Given the description of an element on the screen output the (x, y) to click on. 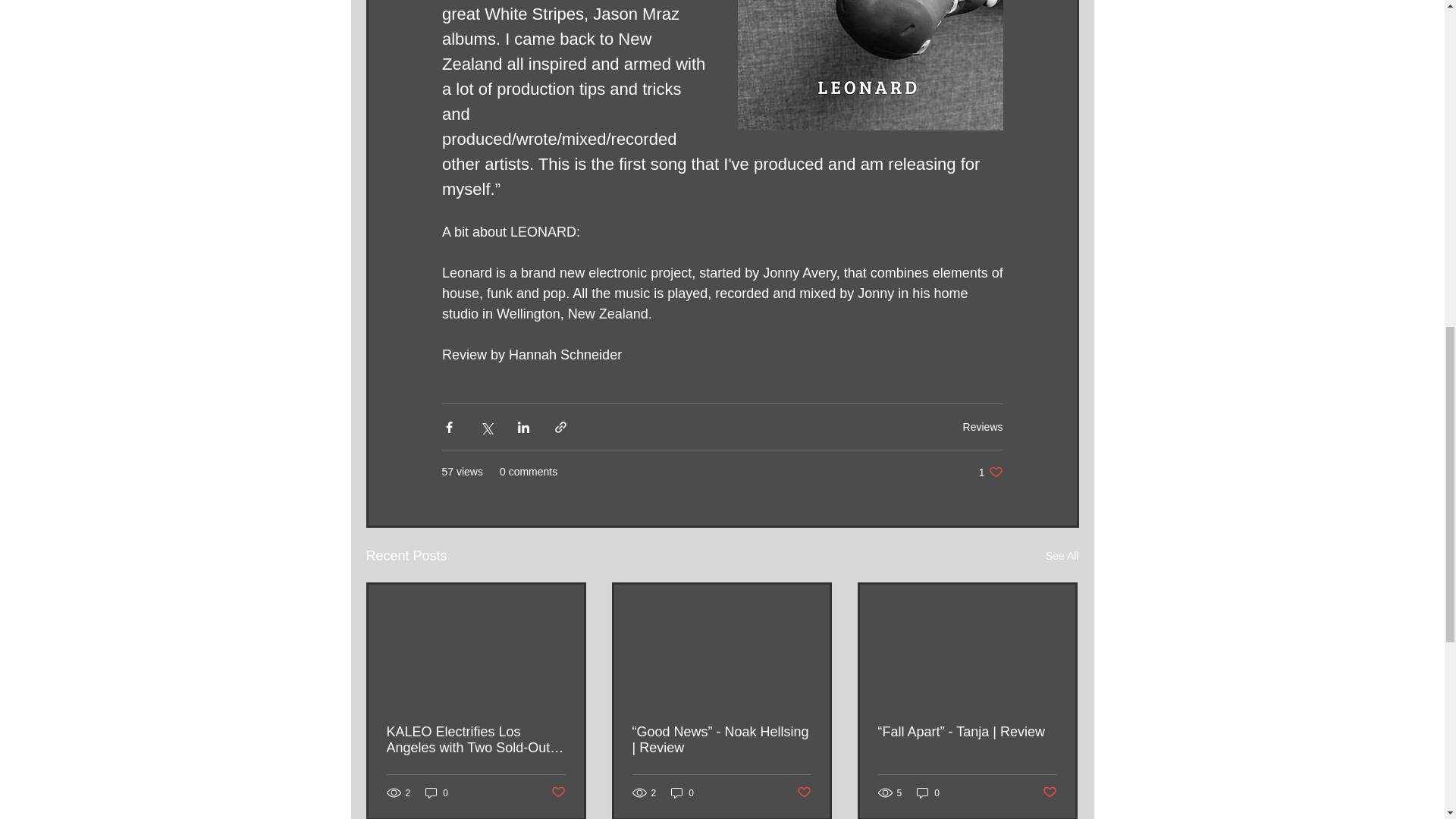
0 (990, 472)
0 (682, 792)
Post not marked as liked (436, 792)
Reviews (1049, 792)
KALEO Electrifies Los Angeles with Two Sold-Out Shows (982, 426)
Post not marked as liked (476, 739)
See All (557, 792)
Post not marked as liked (1061, 556)
0 (803, 792)
